Given the description of an element on the screen output the (x, y) to click on. 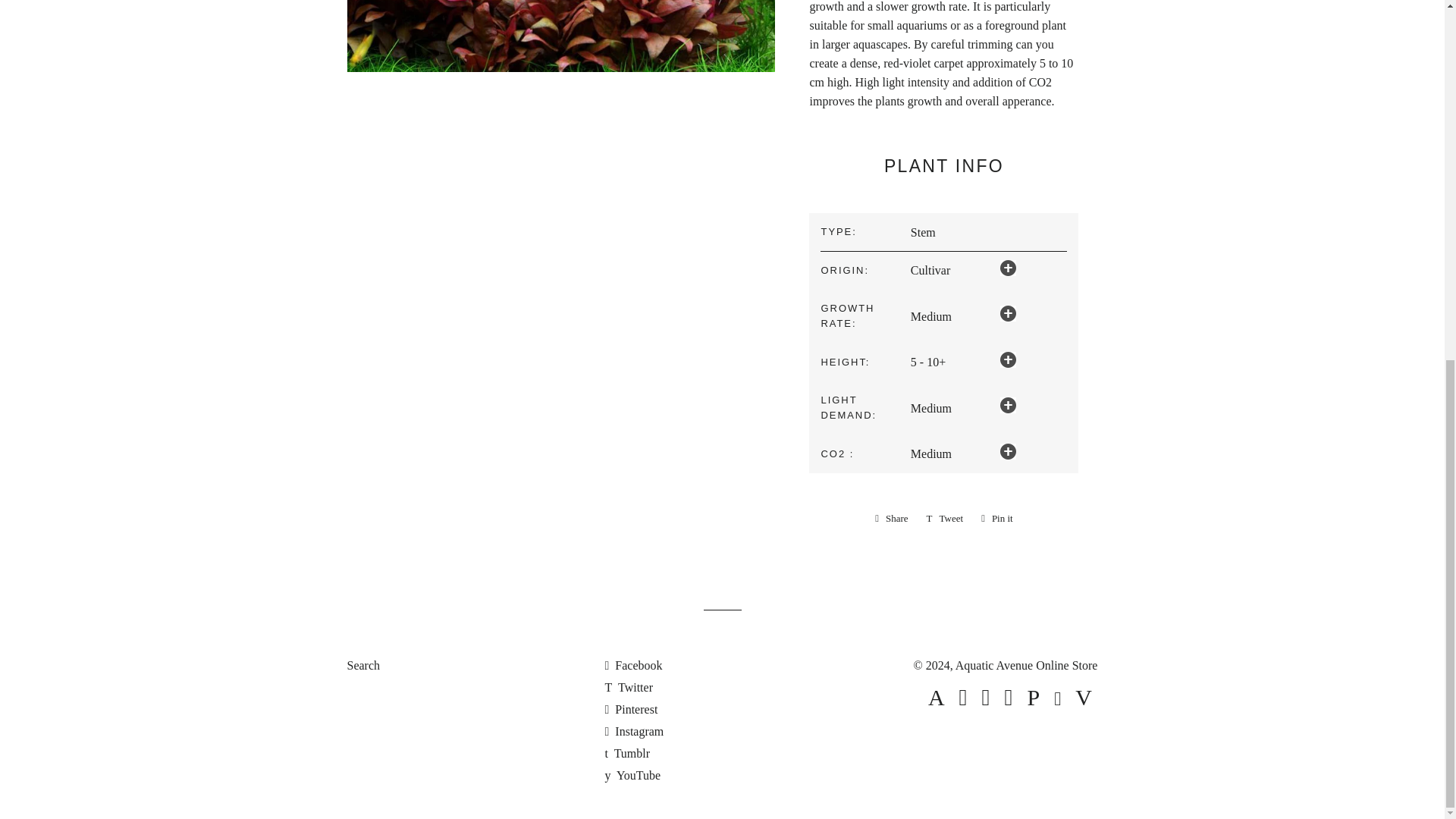
Pin on Pinterest (997, 517)
Aquatic Avenue Online Store on Instagram (633, 730)
Aquatic Avenue Online Store on Twitter (628, 686)
Aquatic Avenue Online Store on Facebook (633, 665)
Aquatic Avenue Online Store on YouTube (632, 775)
Tweet on Twitter (944, 517)
Aquatic Avenue Online Store on Pinterest (631, 708)
Aquatic Avenue Online Store on Tumblr (626, 753)
Share on Facebook (891, 517)
